Given the description of an element on the screen output the (x, y) to click on. 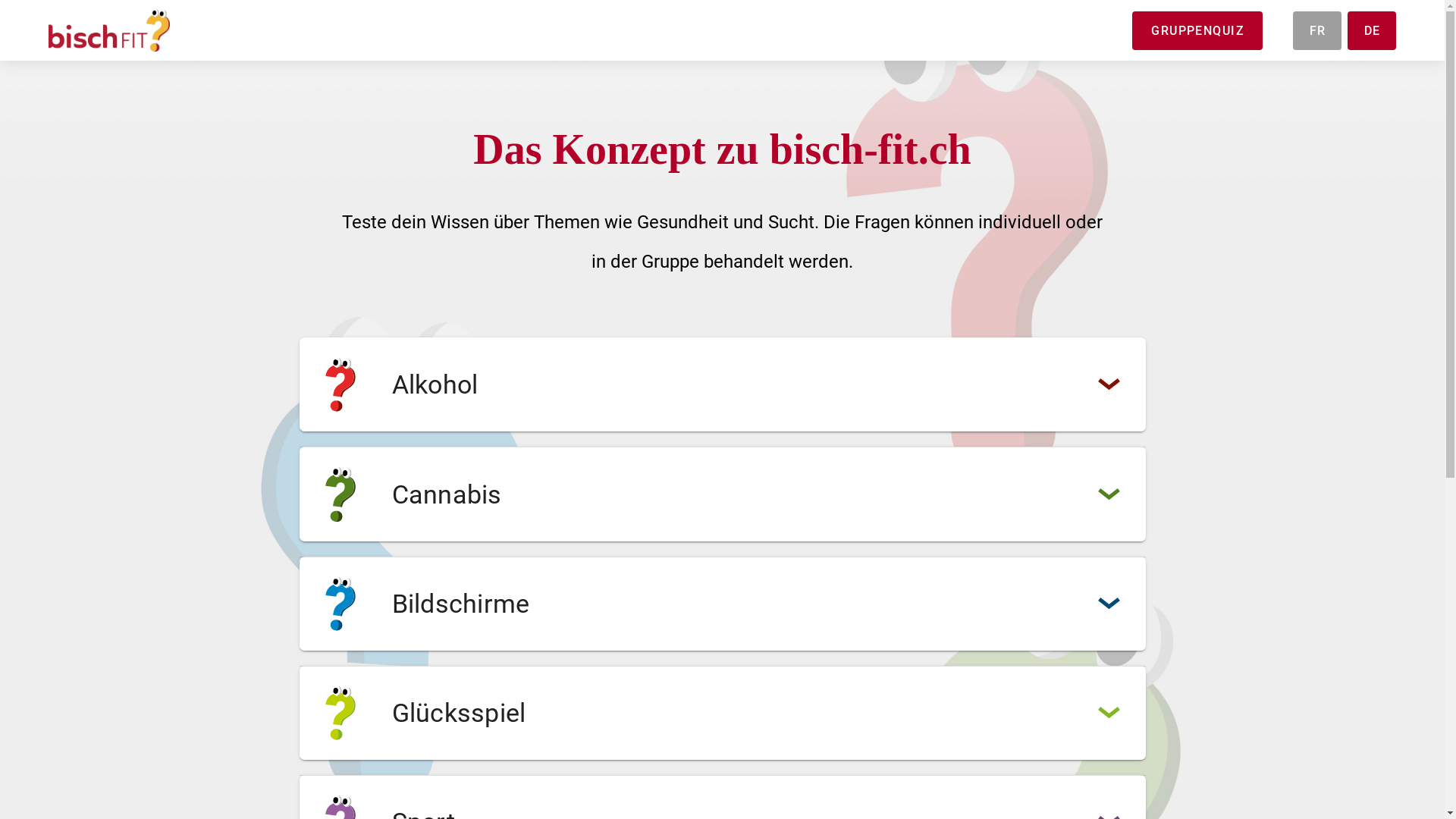
Bildschirme Element type: text (721, 603)
GRUPPENQUIZ Element type: text (1197, 30)
FR Element type: text (1316, 30)
Alkohol Element type: text (721, 384)
Cannabis Element type: text (721, 493)
DE Element type: text (1371, 30)
